Given the description of an element on the screen output the (x, y) to click on. 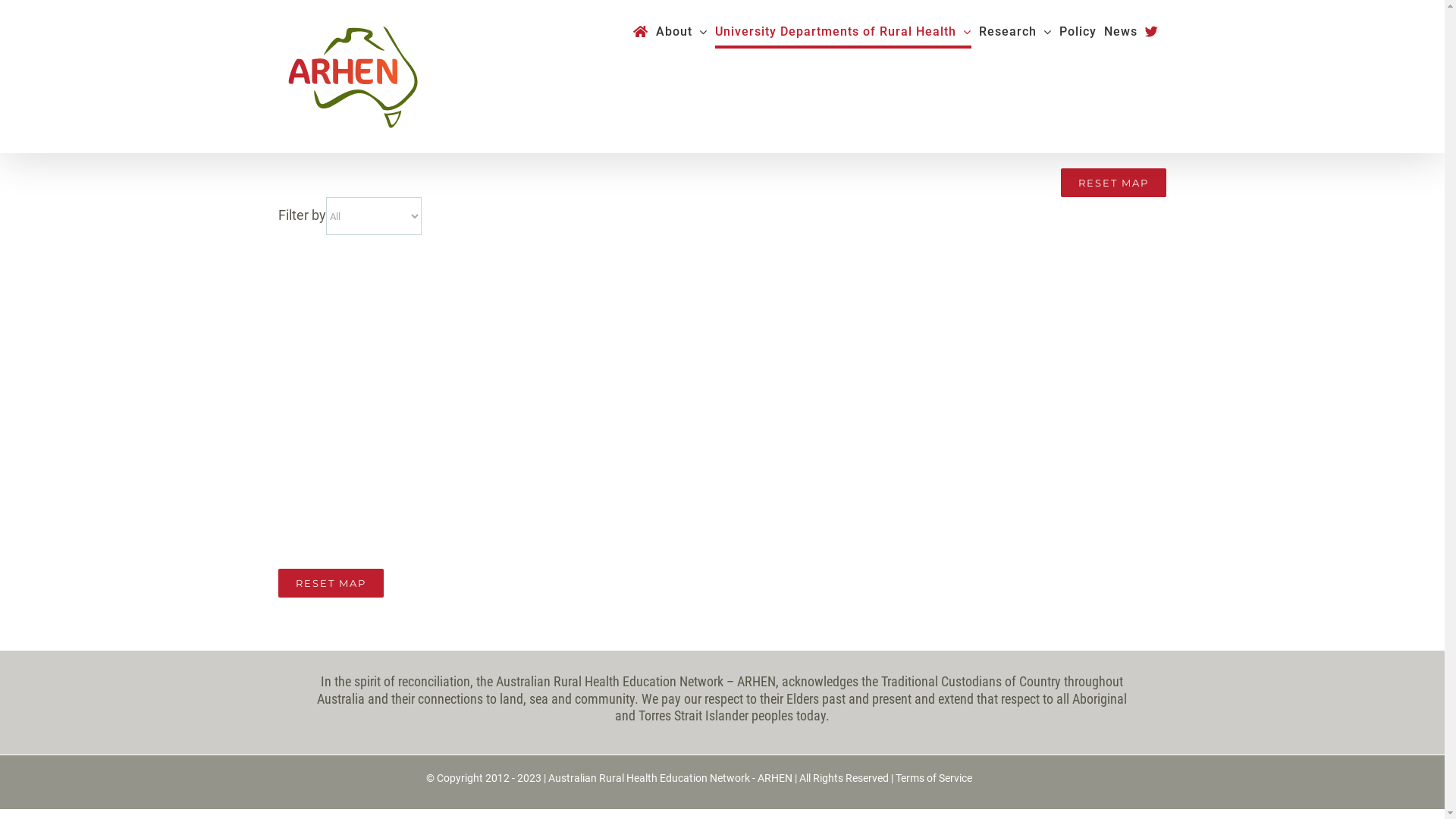
Terms of Service Element type: text (933, 777)
University Departments of Rural Health Element type: text (842, 31)
Research Element type: text (1014, 31)
Policy Element type: text (1076, 31)
News Element type: text (1120, 31)
About Element type: text (680, 31)
RESET MAP Element type: text (330, 582)
RESET MAP Element type: text (1113, 182)
